Given the description of an element on the screen output the (x, y) to click on. 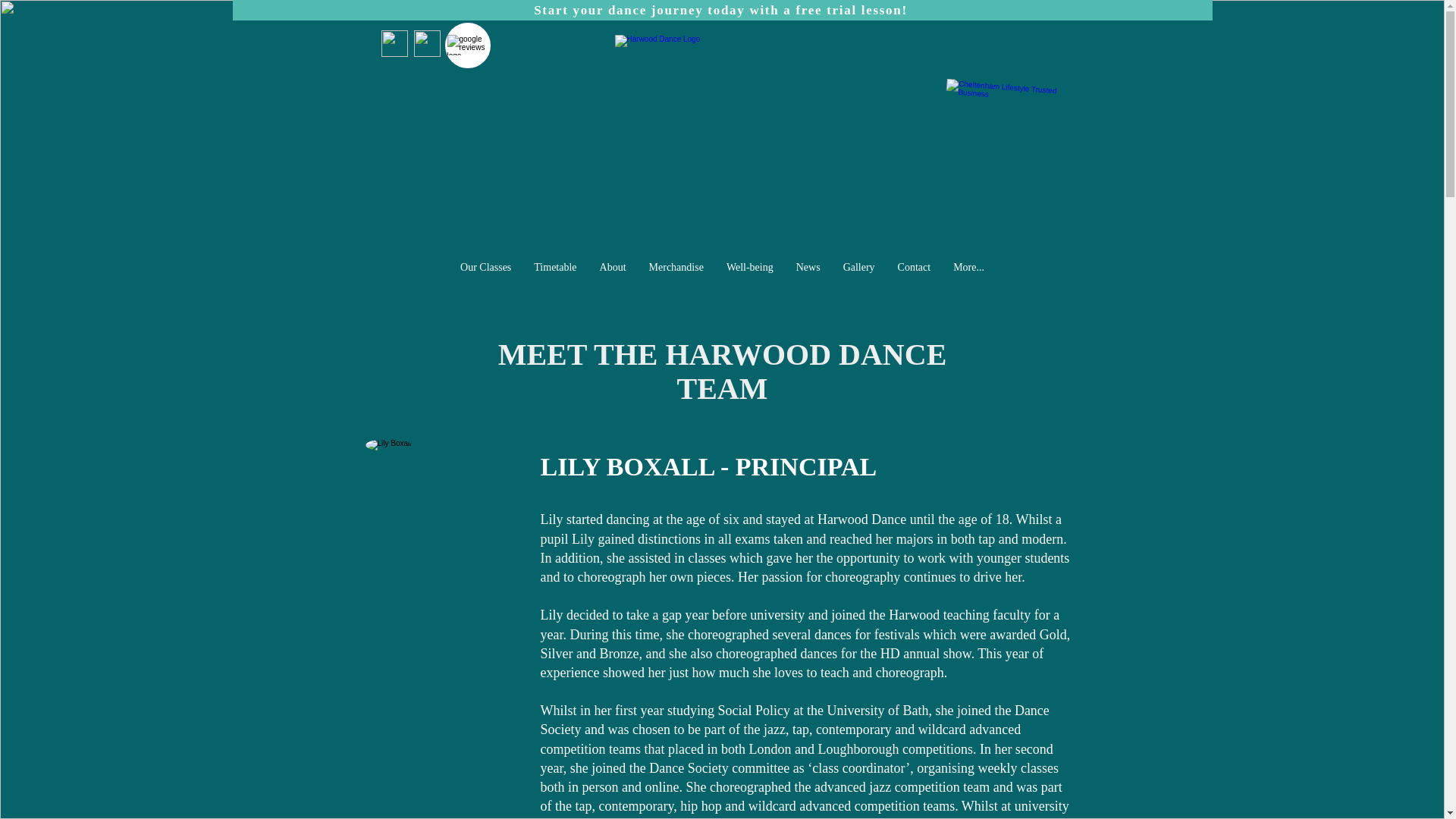
Well-being (749, 277)
Timetable (555, 277)
News (807, 277)
Cheltenham Lifestyle Trusted Businss (994, 135)
Merchandise (675, 277)
Gallery (858, 277)
Contact (914, 277)
Hardwood Dance  (721, 137)
Start your dance journey today with a free trial lesson! (721, 10)
